Given the description of an element on the screen output the (x, y) to click on. 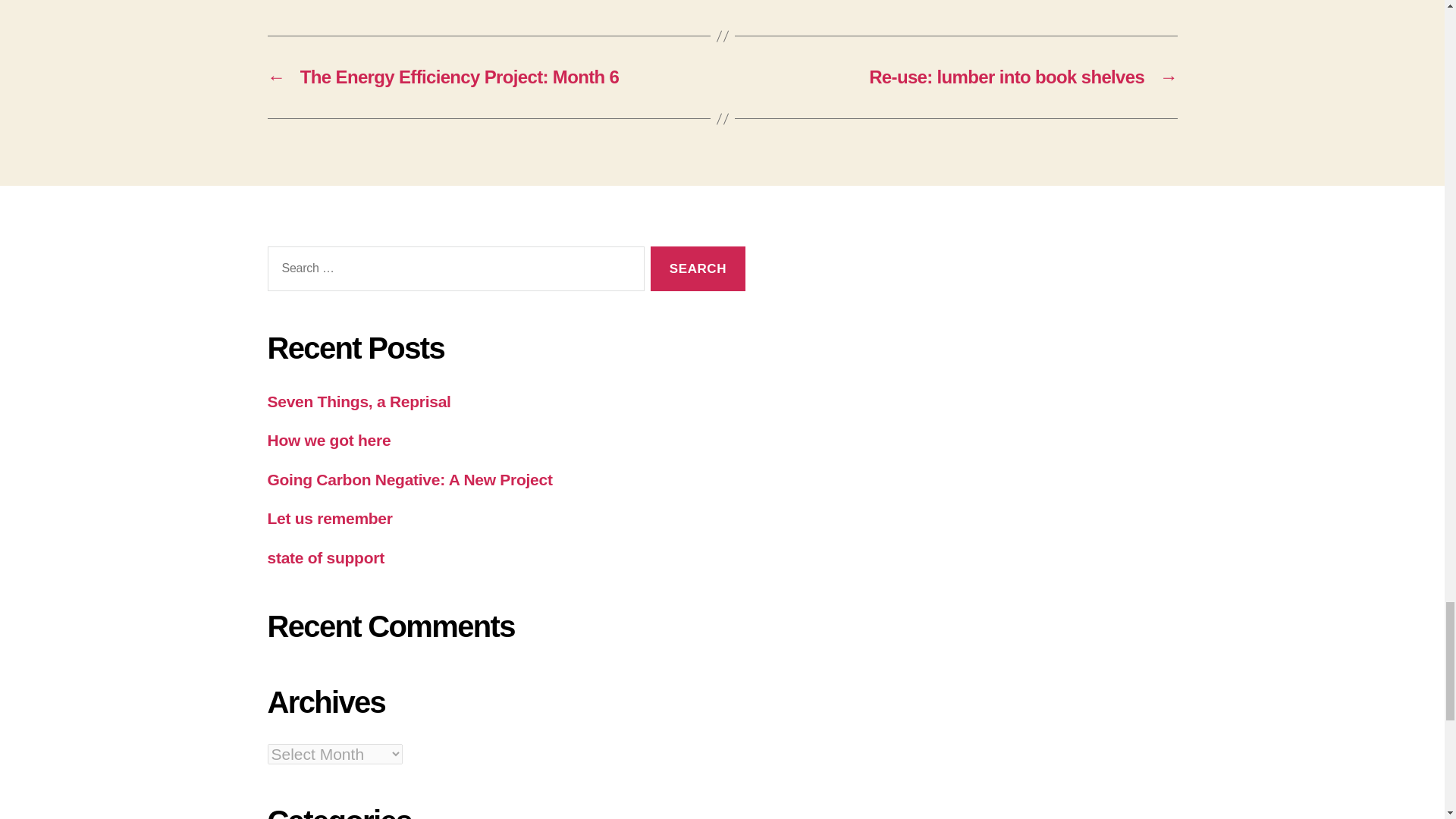
Let us remember (328, 518)
How we got here (328, 439)
Search (697, 268)
Going Carbon Negative: A New Project (408, 479)
Seven Things, a Reprisal (357, 401)
Search (697, 268)
Search (697, 268)
